Given the description of an element on the screen output the (x, y) to click on. 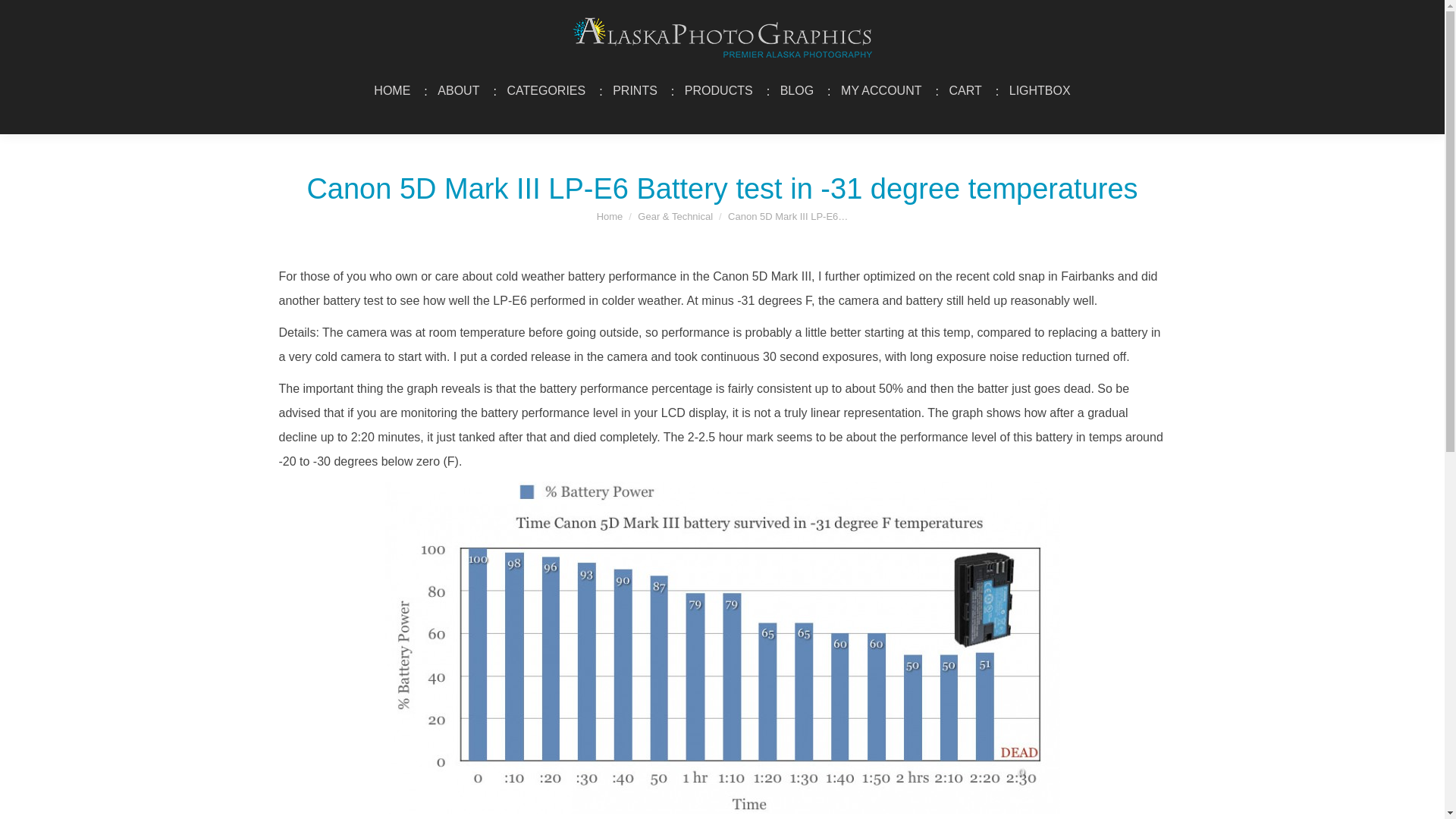
PRODUCTS (719, 90)
CART (964, 90)
CATEGORIES (545, 90)
MY ACCOUNT (880, 90)
PRINTS (634, 90)
ABOUT (458, 90)
BLOG (796, 90)
LIGHTBOX (1040, 90)
Home (609, 215)
HOME (391, 90)
